Given the description of an element on the screen output the (x, y) to click on. 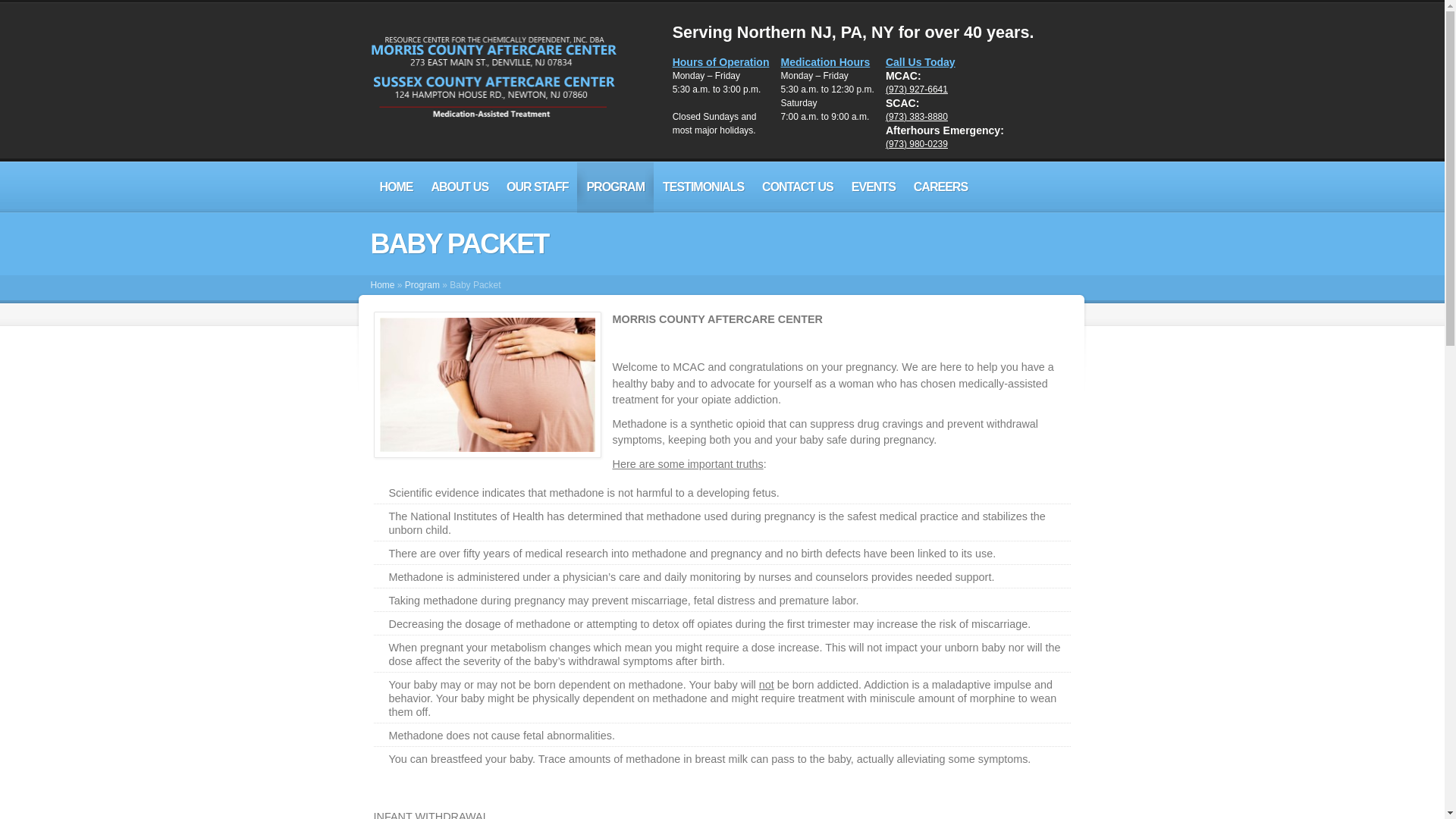
TESTIMONIALS (702, 187)
PROGRAM (614, 187)
ABOUT US (459, 187)
CAREERS (940, 187)
Home (381, 285)
CONTACT US (797, 187)
Program (421, 285)
HOME (395, 187)
OUR STAFF (536, 187)
EVENTS (873, 187)
